Given the description of an element on the screen output the (x, y) to click on. 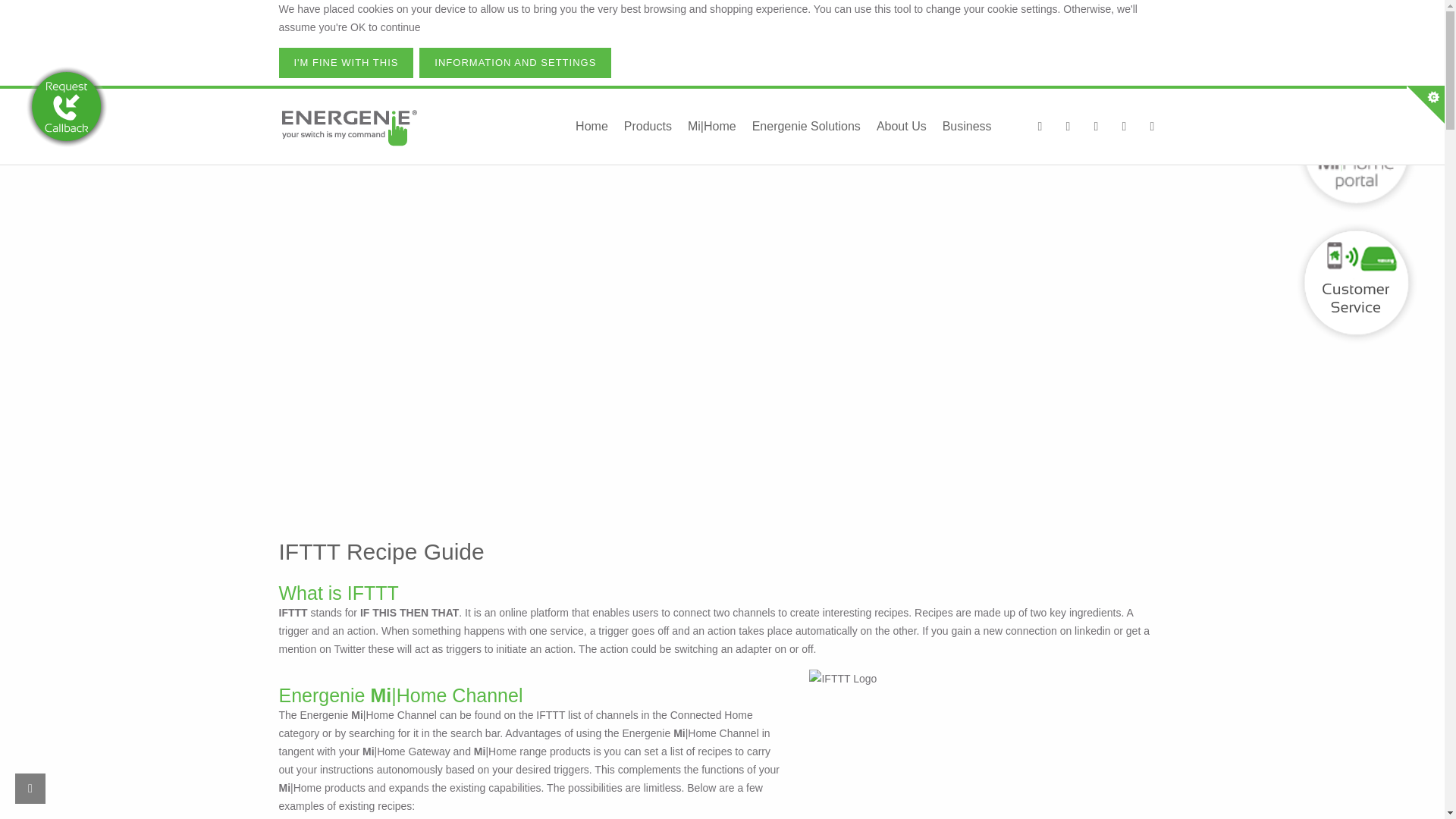
INFORMATION AND SETTINGS (515, 62)
I'M FINE WITH THIS (346, 62)
Energenie Solutions (805, 126)
